Given the description of an element on the screen output the (x, y) to click on. 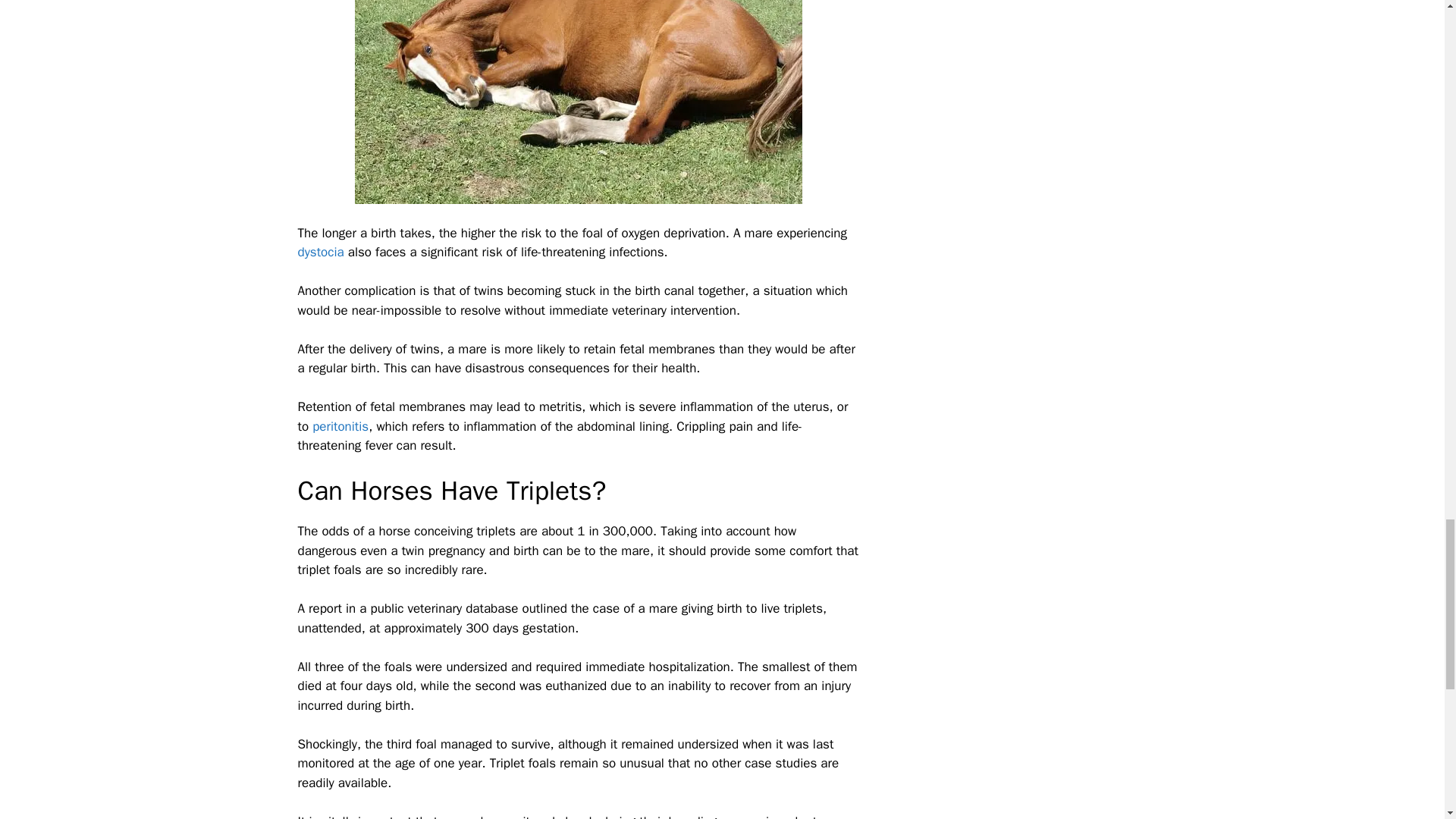
dystocia (320, 252)
peritonitis (340, 426)
